Given the description of an element on the screen output the (x, y) to click on. 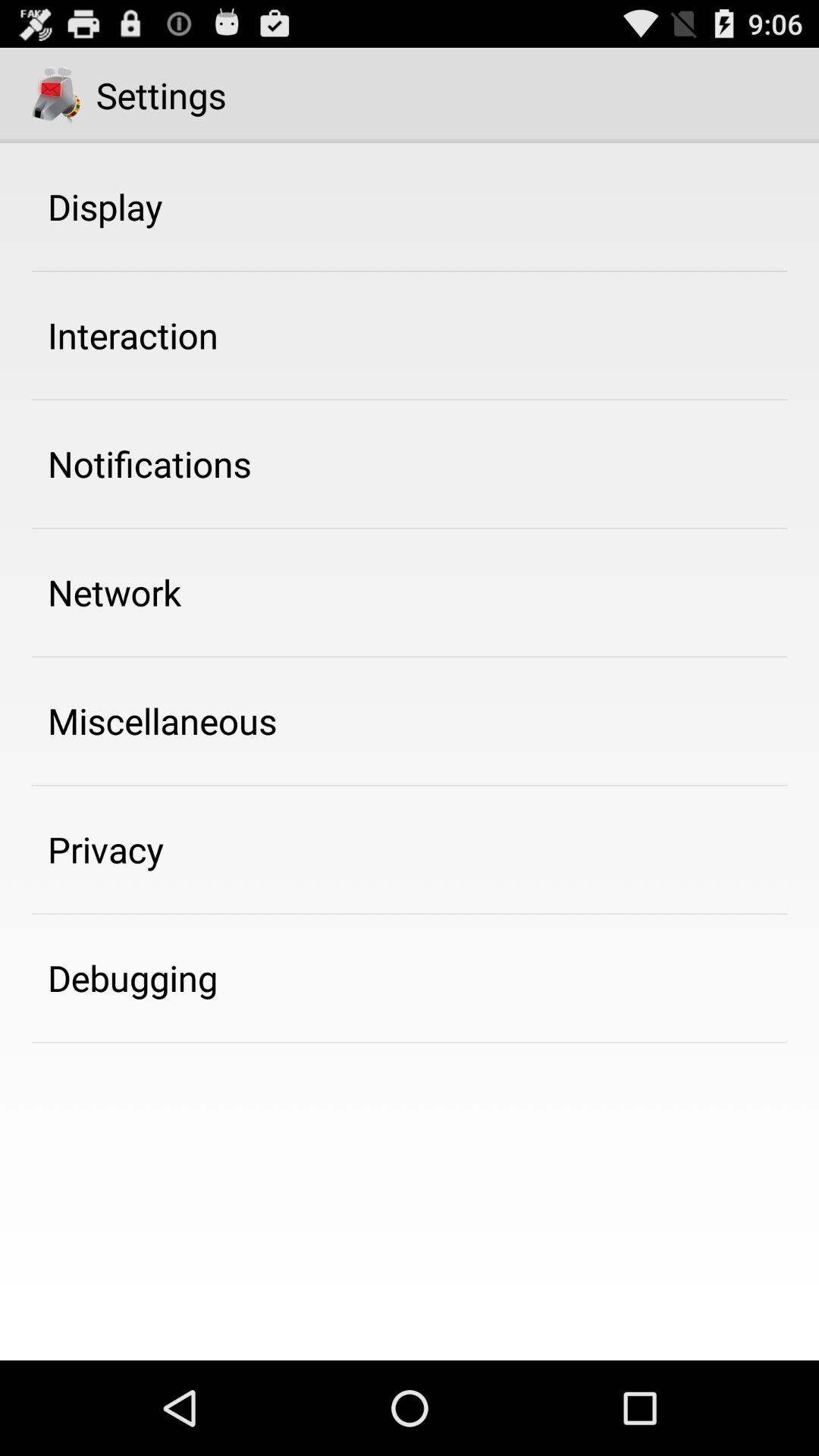
turn on item below the interaction app (149, 463)
